Given the description of an element on the screen output the (x, y) to click on. 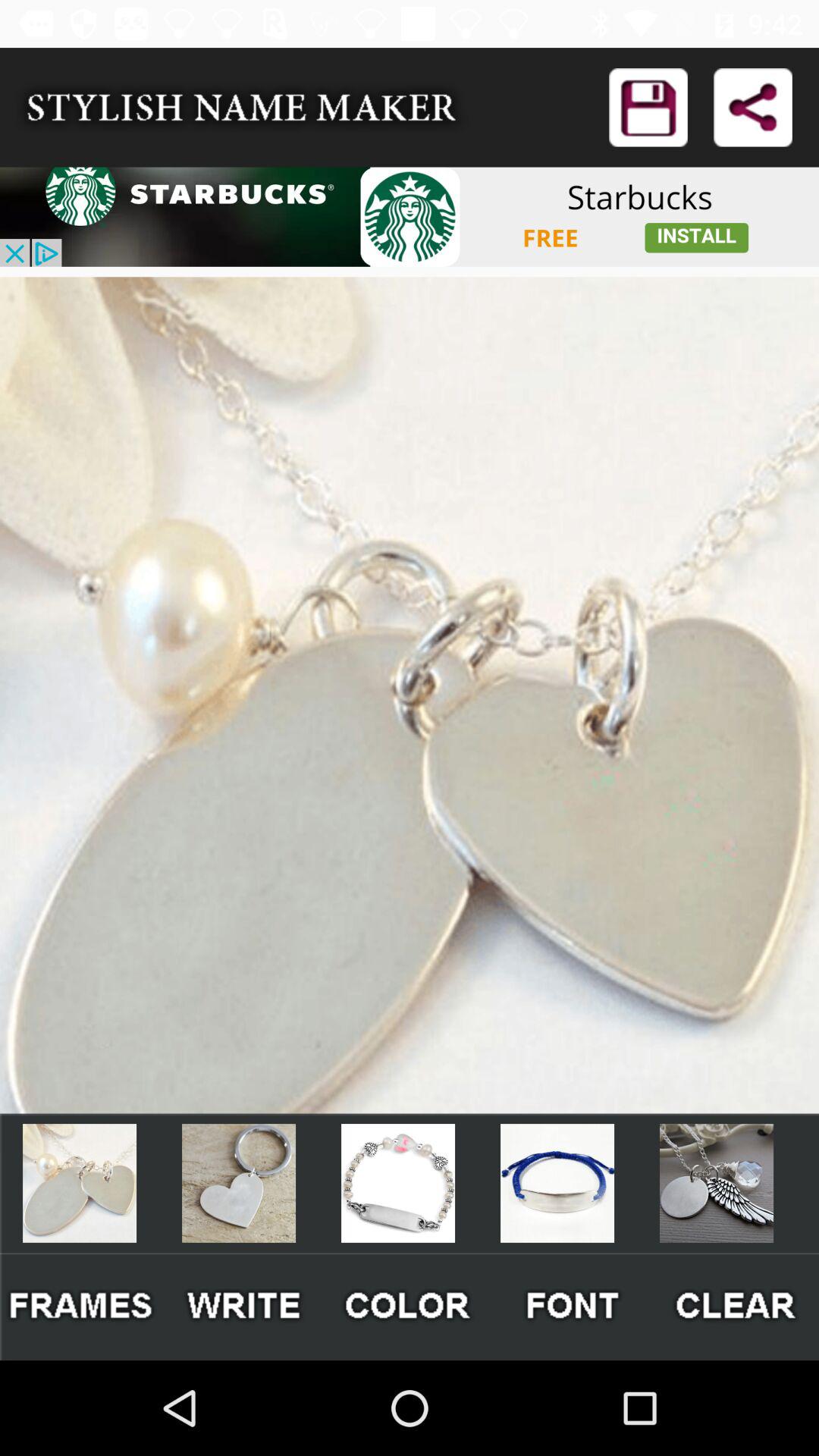
write message (245, 1306)
